Given the description of an element on the screen output the (x, y) to click on. 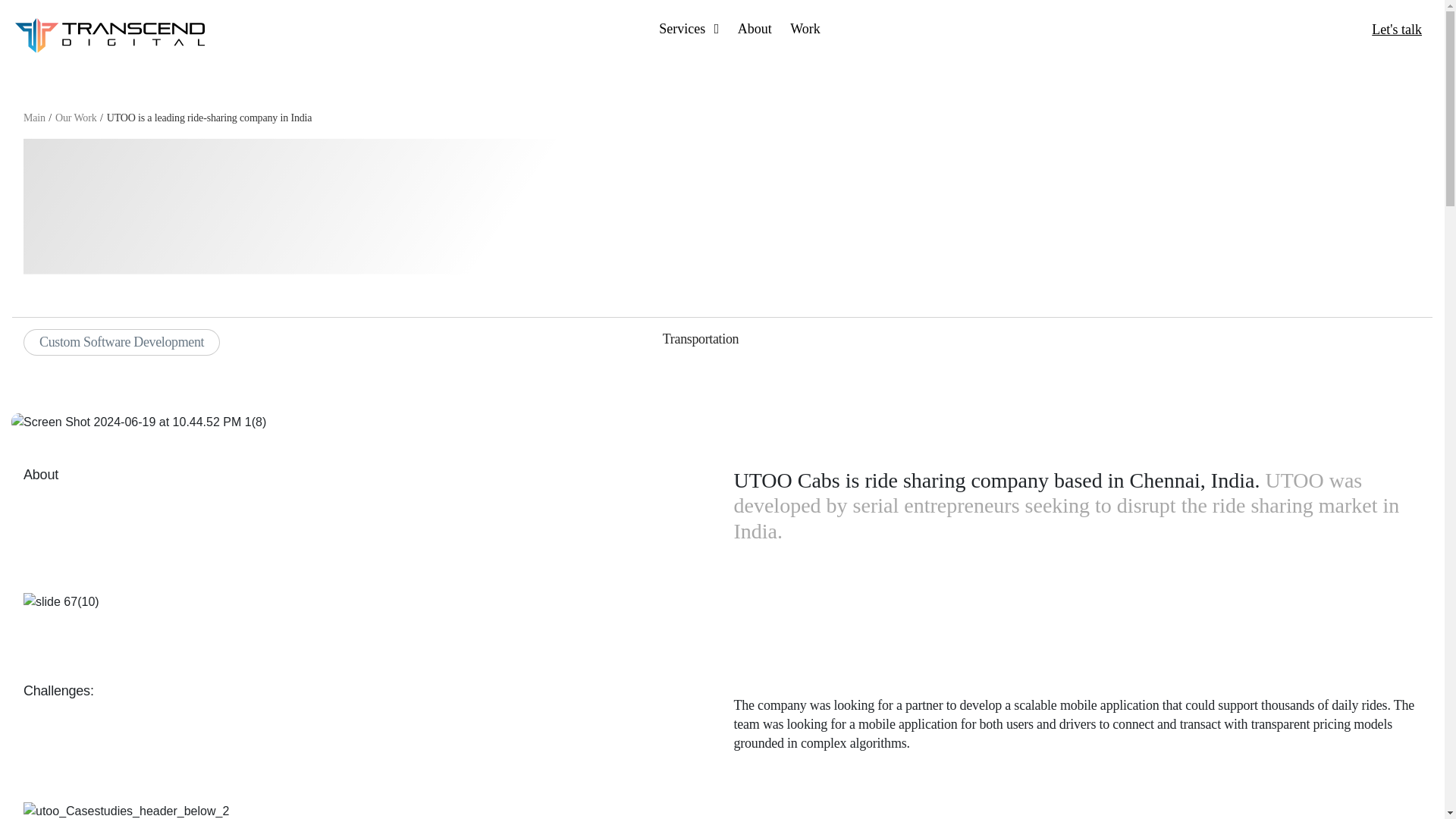
transcend-digital-logo (109, 35)
Work (805, 28)
Services (689, 28)
About (754, 28)
Let's talk (1396, 28)
